Given the description of an element on the screen output the (x, y) to click on. 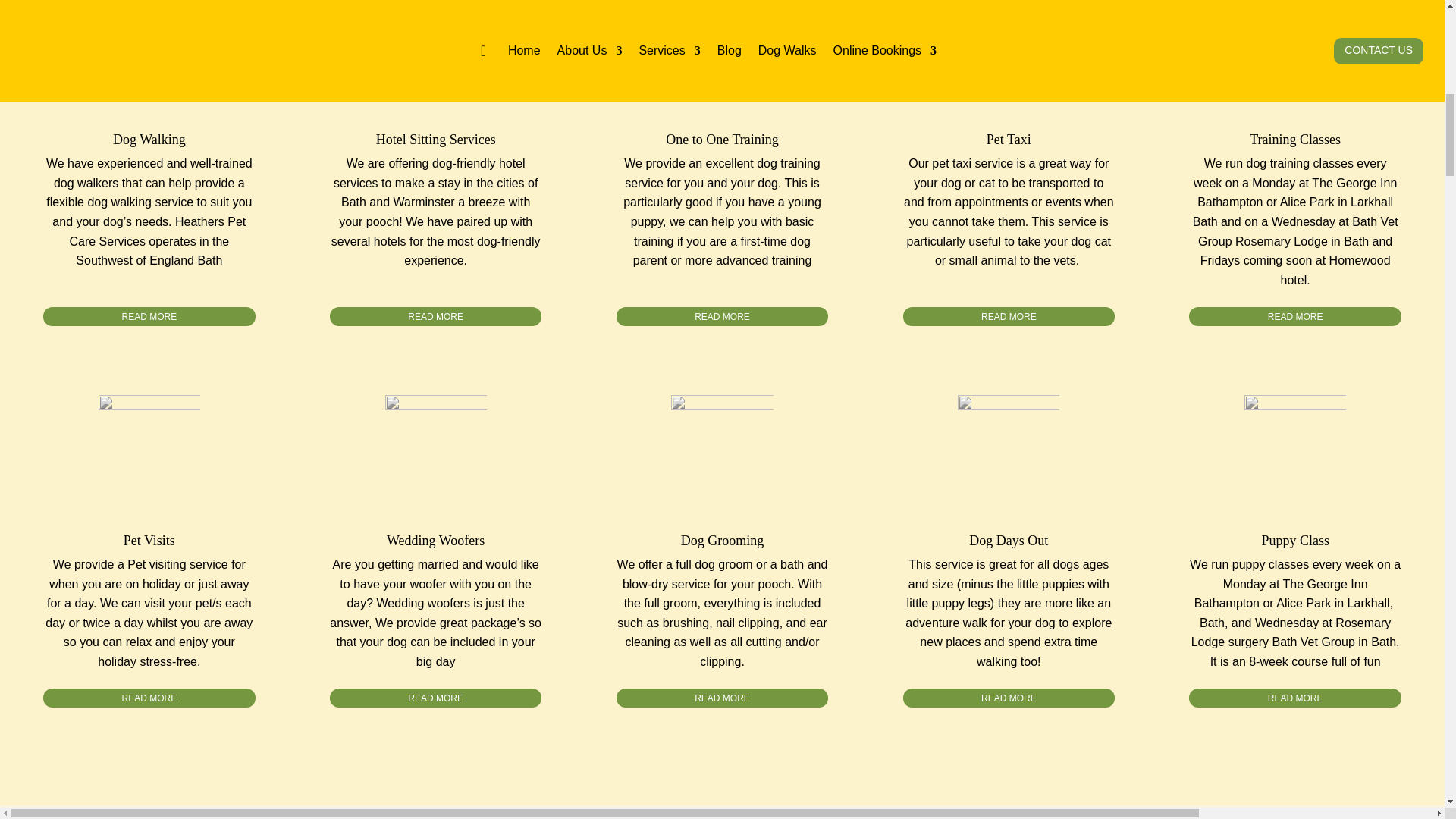
noun-dog-6743437-986d3c colour (149, 47)
noun-pet-taxi-5620968-897d70 colour (1008, 47)
dog-grooming (722, 445)
hotel services (435, 47)
noun-dog-1225685-986D3C (1294, 445)
dog day out (1008, 445)
puppy-classes-icon 3 (1294, 47)
noun-dog-training-6431398-897d70 colour (722, 47)
wedding-woof-icon 2 (435, 445)
noun-dog-food-6692379-00449F 3 (149, 445)
